Given the description of an element on the screen output the (x, y) to click on. 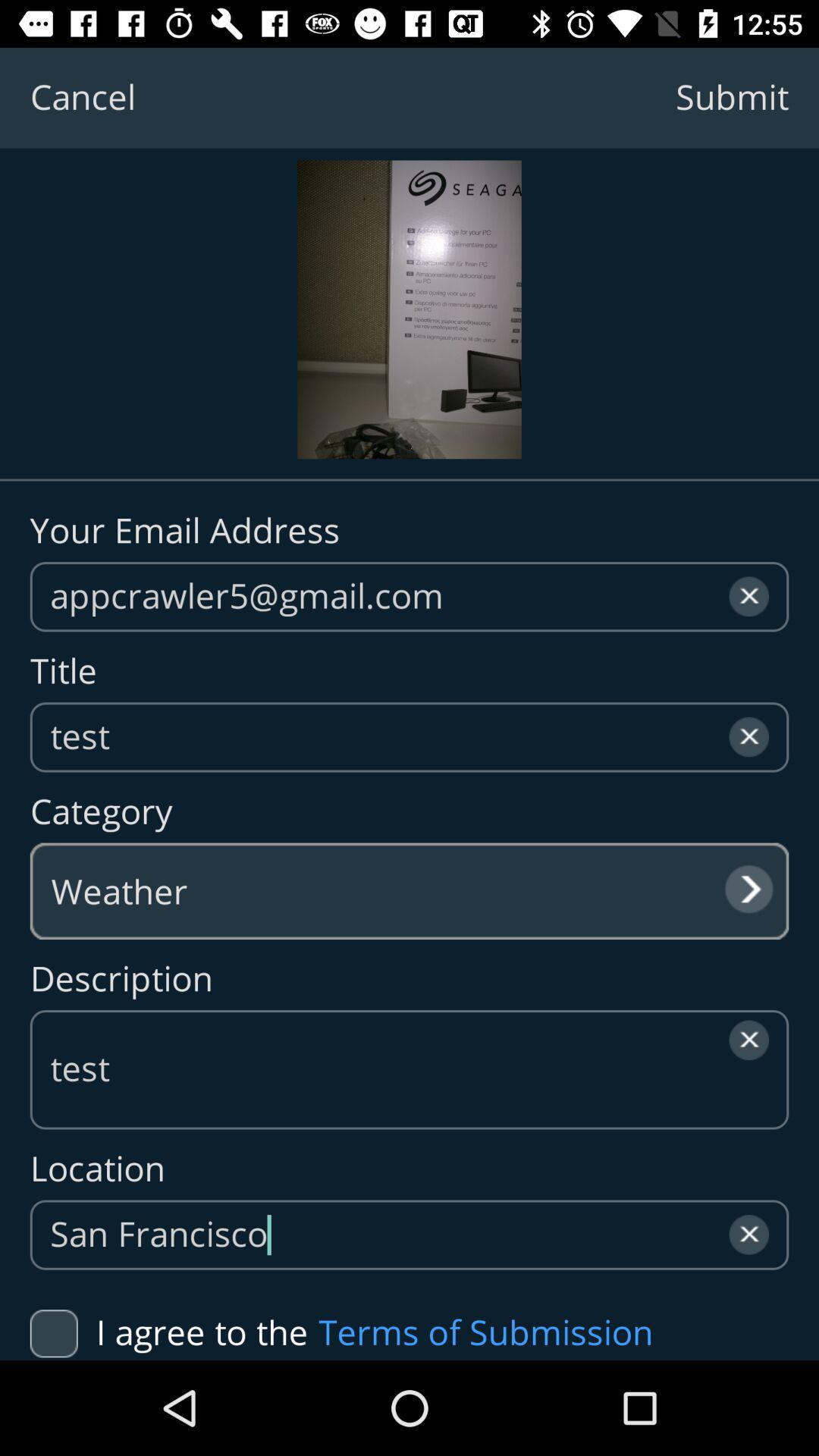
select the first option from the left bottom (169, 1332)
